Given the description of an element on the screen output the (x, y) to click on. 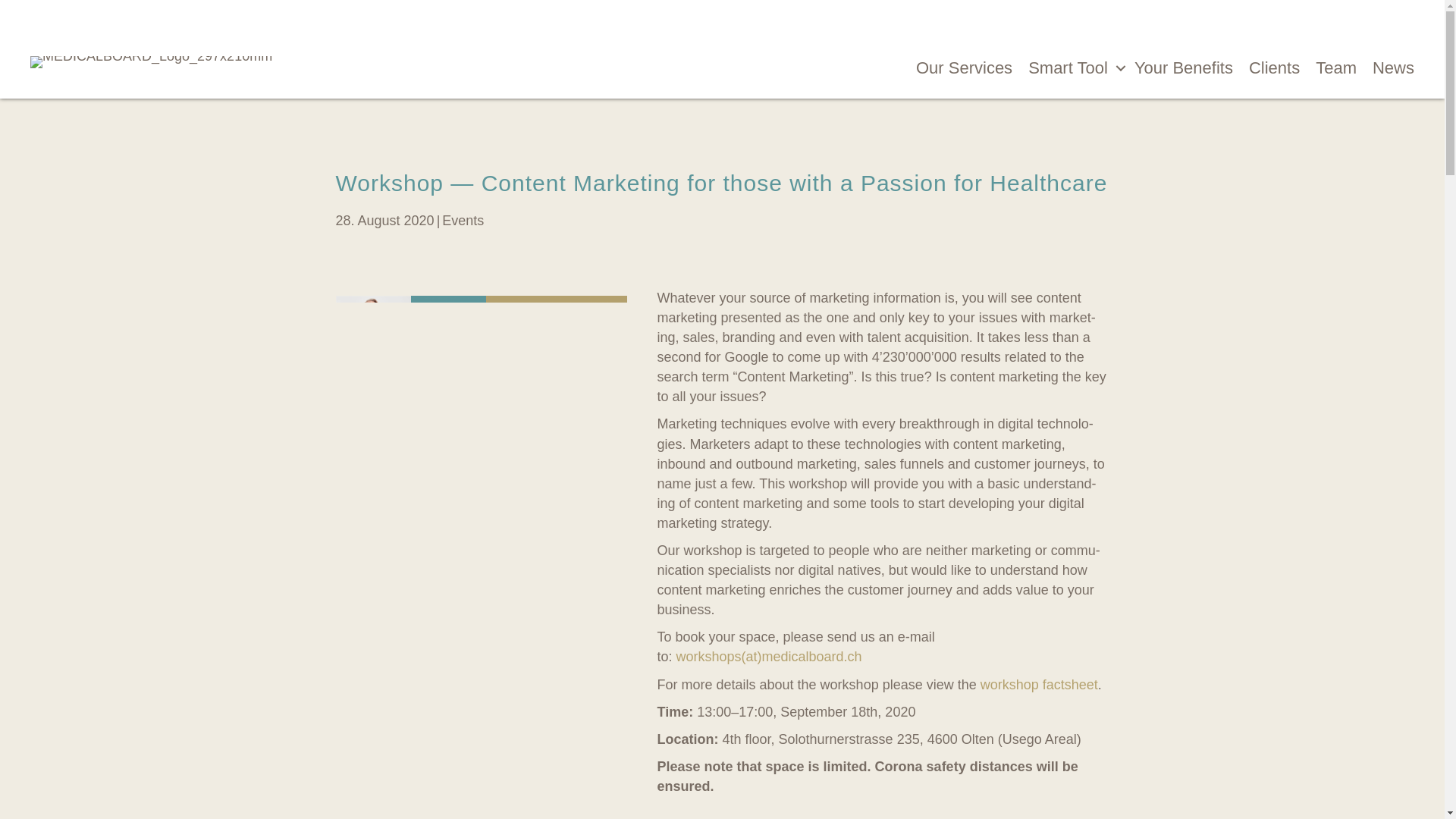
Team (1328, 67)
workshop-content-marketing-mailchimp-1024x482 (480, 364)
News (1384, 67)
Events (462, 220)
Smart Tool (1065, 67)
Clients (1266, 67)
Our Services (956, 67)
Your Benefits (1176, 67)
